Given the description of an element on the screen output the (x, y) to click on. 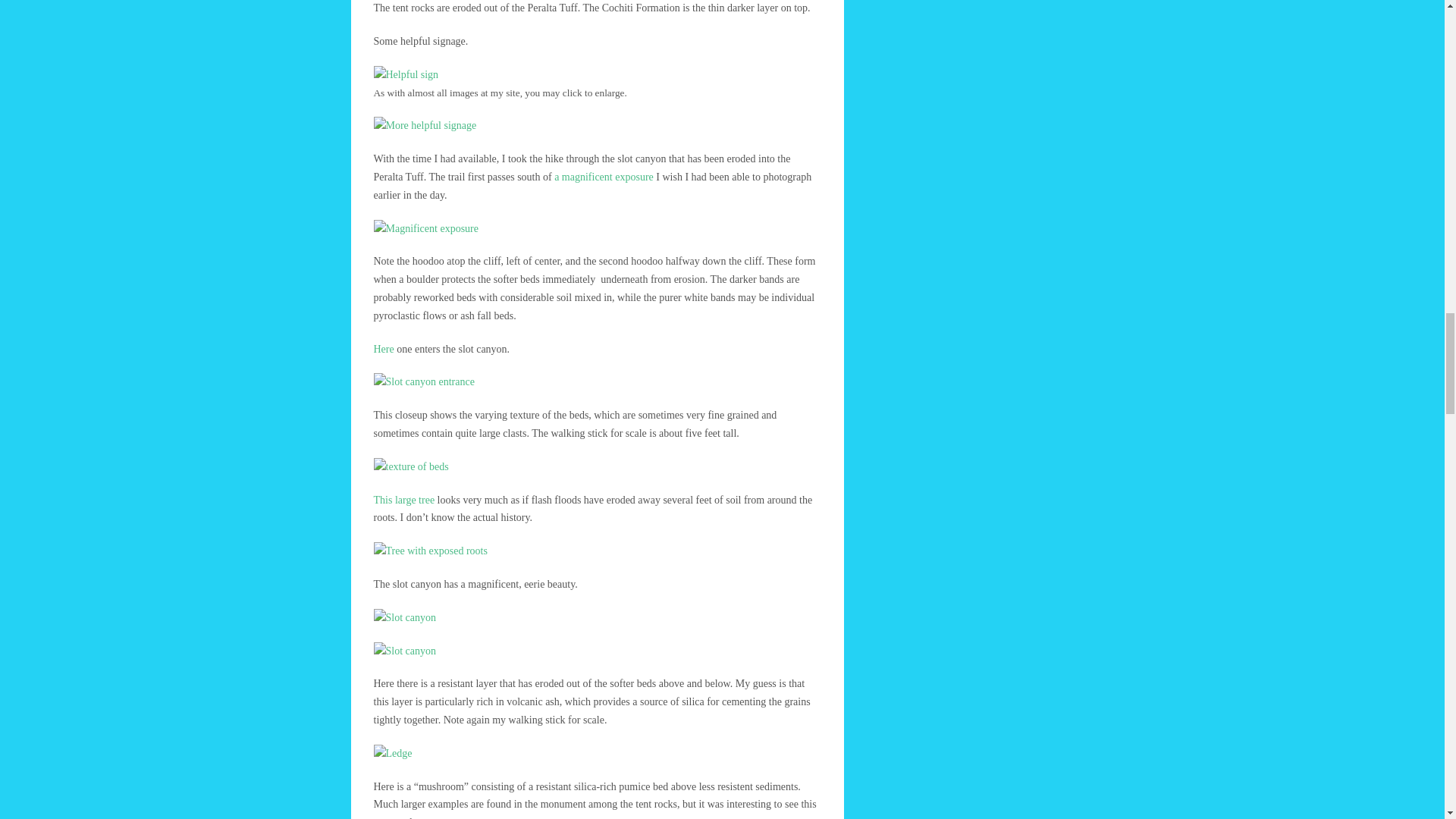
This large tree (402, 500)
Here (382, 348)
a magnificent exposure (603, 176)
